Given the description of an element on the screen output the (x, y) to click on. 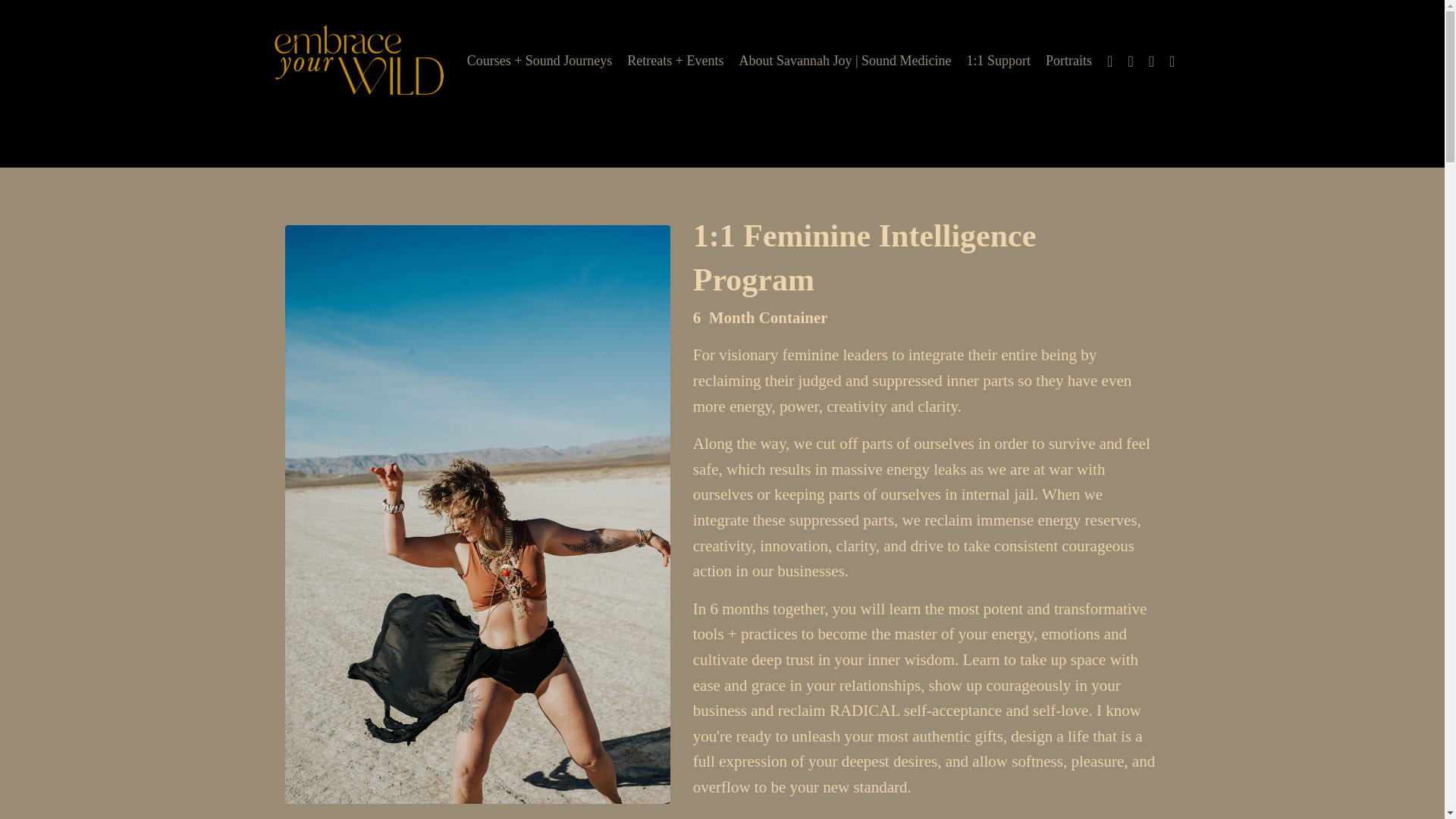
1:1 Support (998, 60)
Portraits (1068, 60)
